Given the description of an element on the screen output the (x, y) to click on. 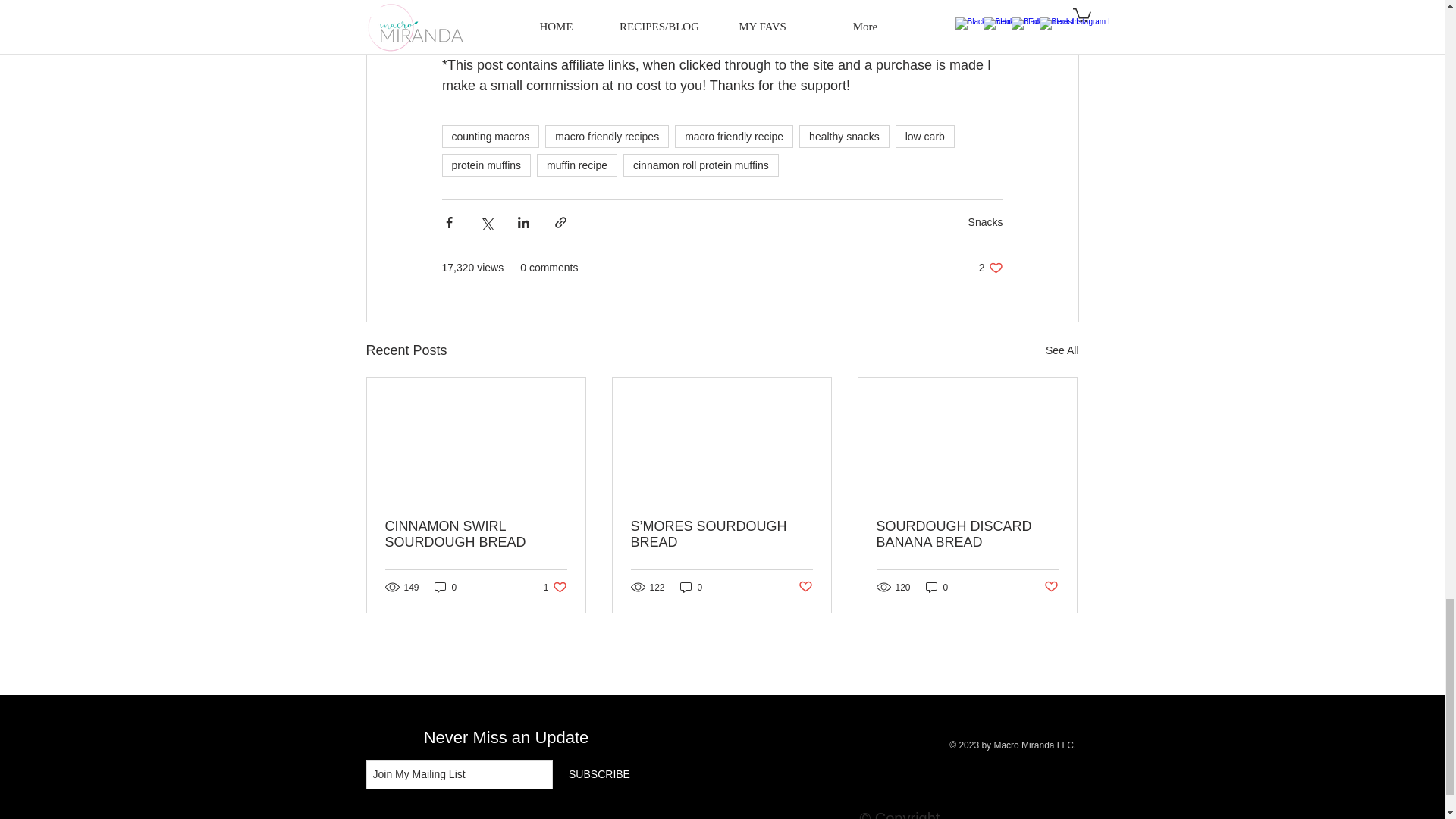
healthy snacks (990, 268)
cinnamon roll protein muffins (844, 136)
counting macros (700, 164)
macro friendly recipe (489, 136)
macro friendly recipes (734, 136)
muffin recipe (606, 136)
Snacks (577, 164)
low carb (985, 222)
protein muffins (925, 136)
